Given the description of an element on the screen output the (x, y) to click on. 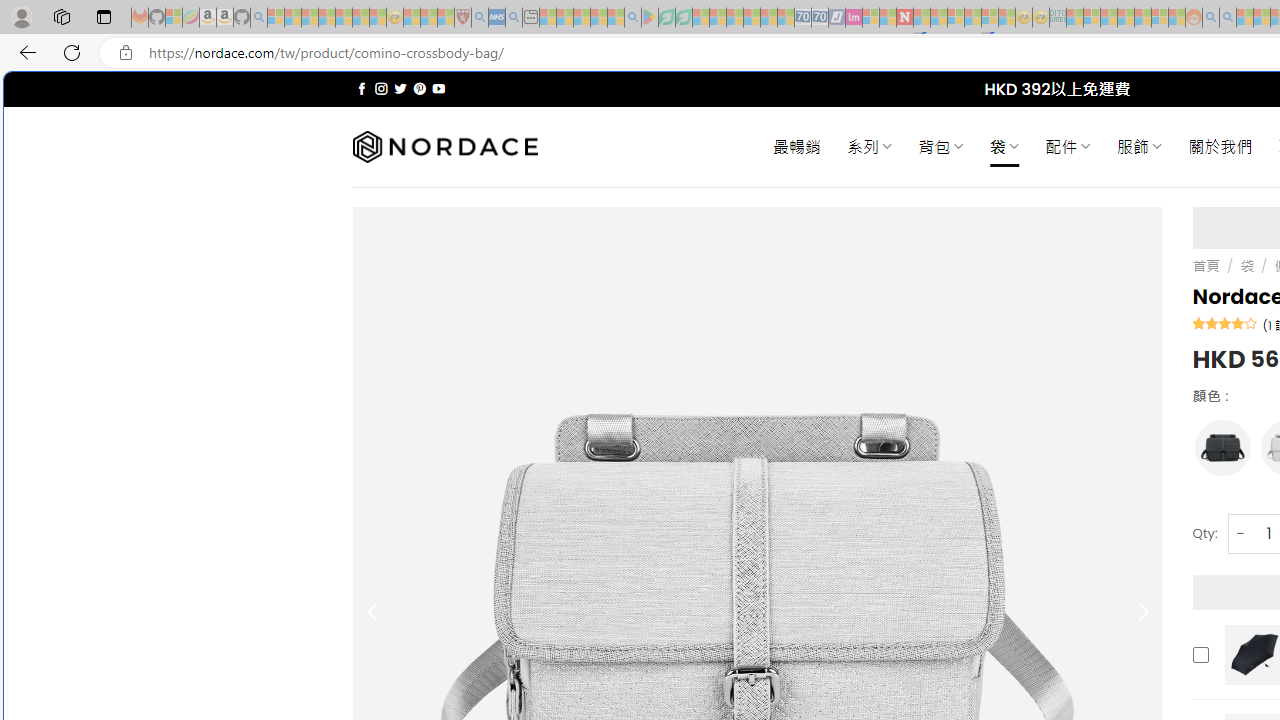
Add this product to cart (1200, 654)
Bluey: Let's Play! - Apps on Google Play - Sleeping (649, 17)
utah sues federal government - Search - Sleeping (513, 17)
